Given the description of an element on the screen output the (x, y) to click on. 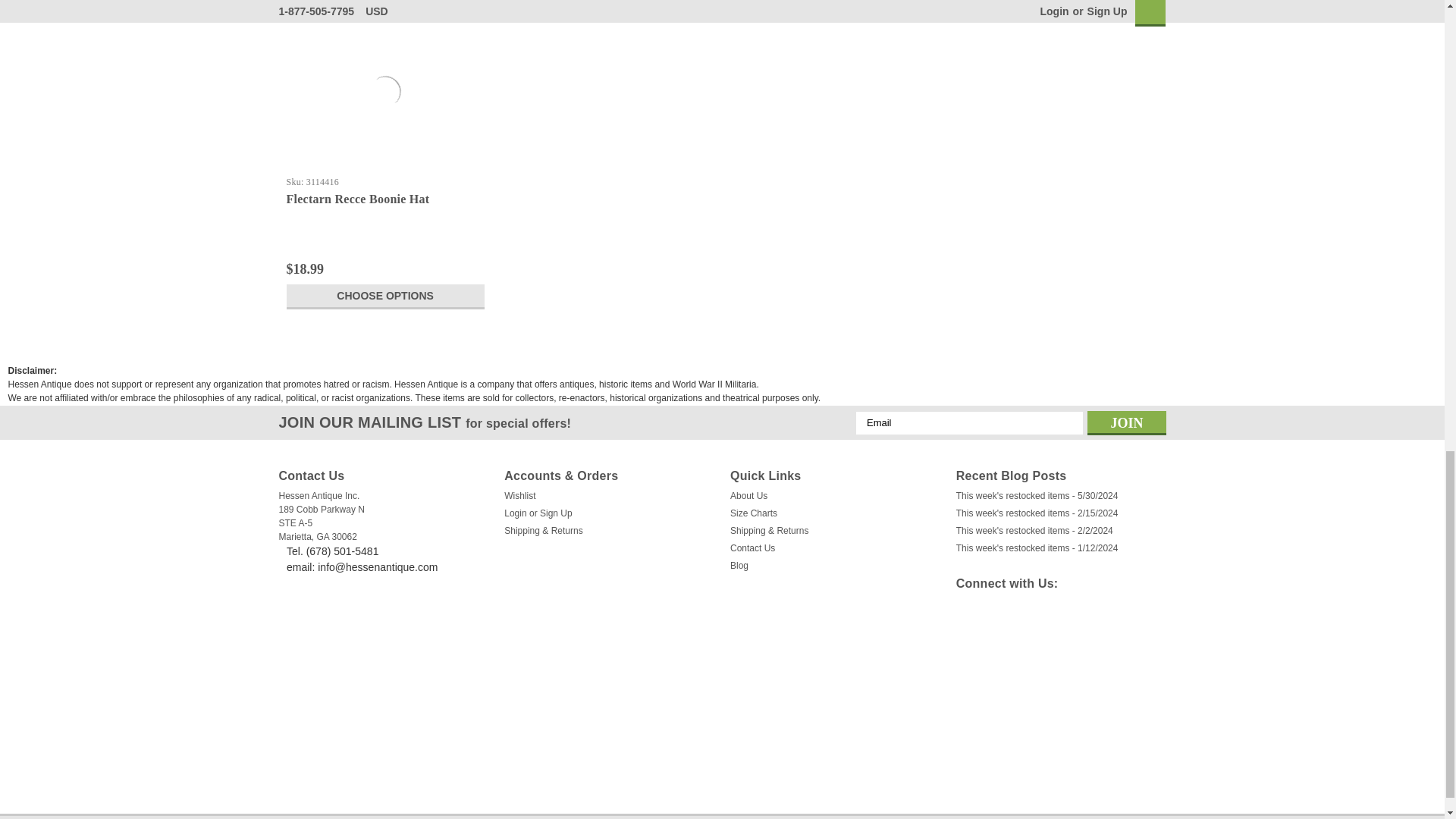
Join (1126, 422)
